Given the description of an element on the screen output the (x, y) to click on. 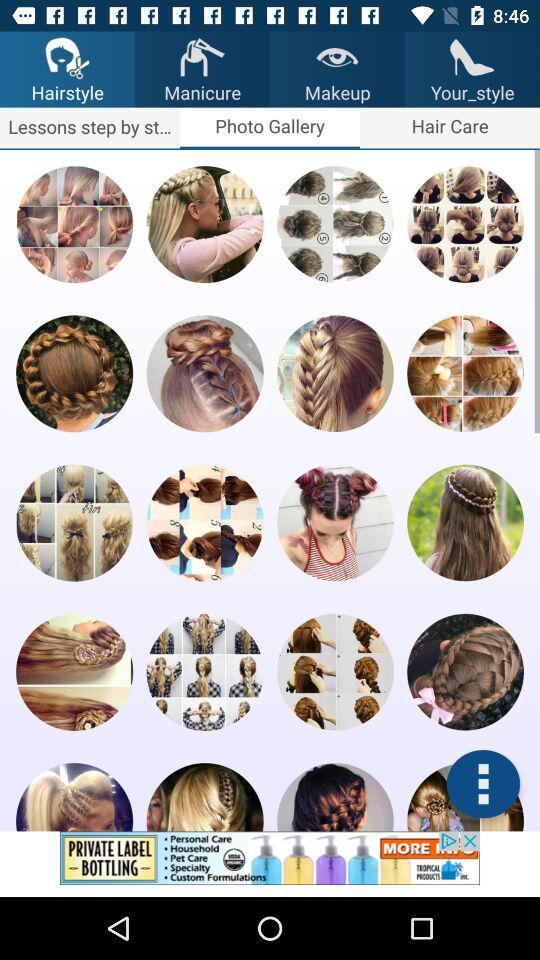
a certain picture from pool of it (74, 671)
